Given the description of an element on the screen output the (x, y) to click on. 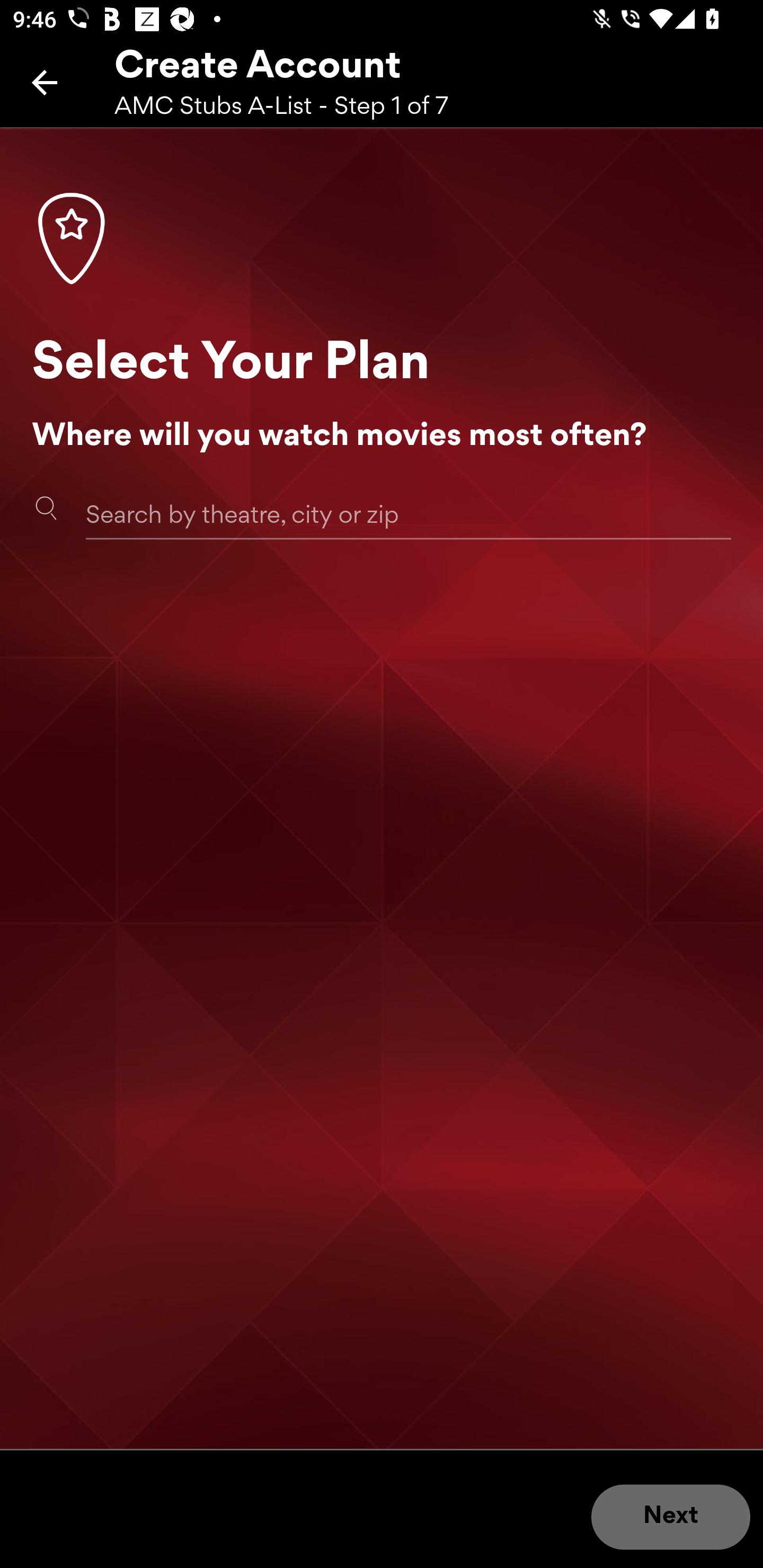
Back (44, 82)
